Given the description of an element on the screen output the (x, y) to click on. 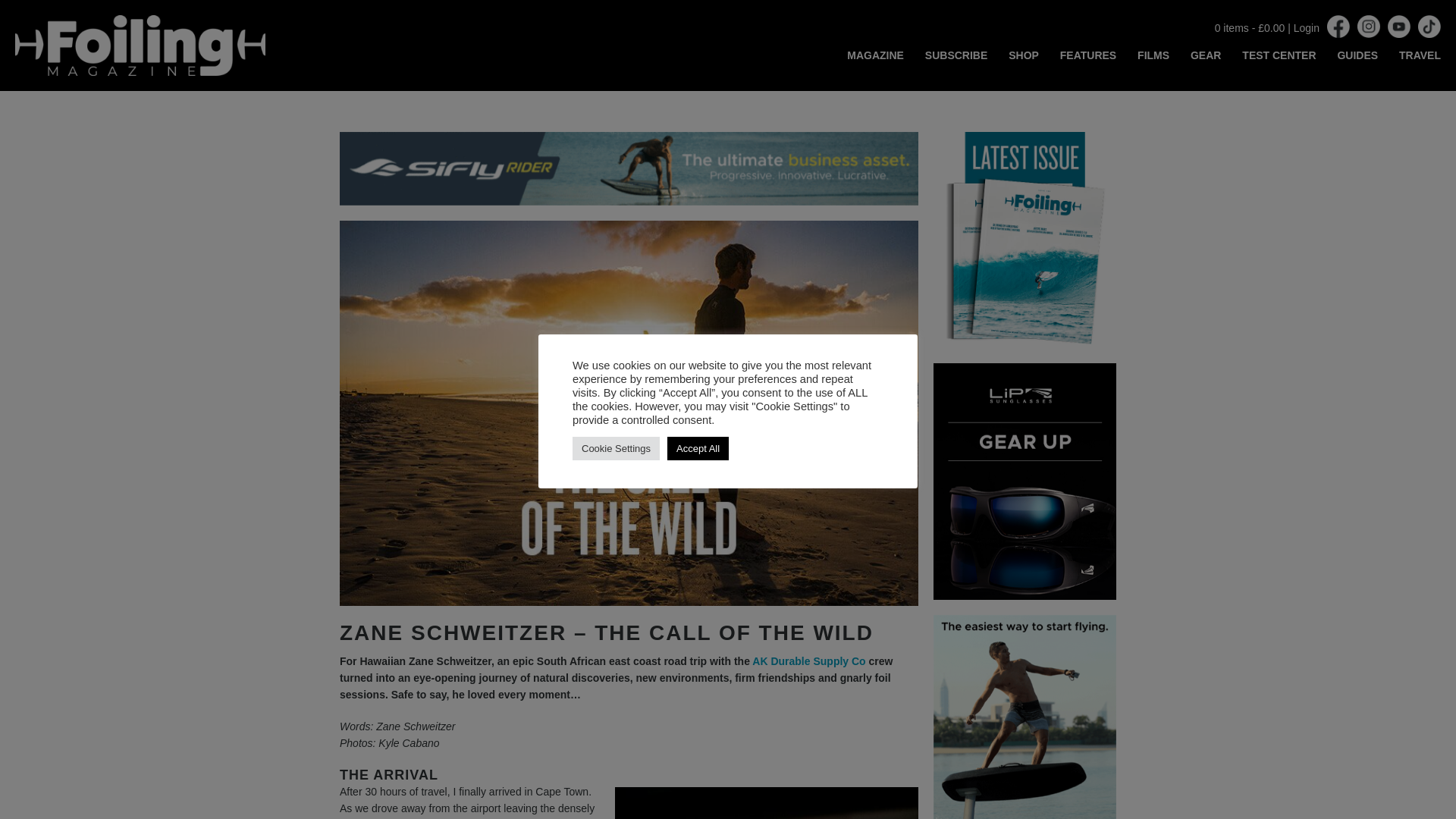
TRAVEL (1420, 55)
TEST CENTER (1278, 55)
FILMS (1153, 55)
SUBSCRIBE (955, 55)
GEAR (1206, 55)
FEATURES (1087, 55)
MAGAZINE (875, 55)
SHOP (1024, 55)
Login (1306, 27)
Cart View (1249, 27)
GUIDES (1356, 55)
